Given the description of an element on the screen output the (x, y) to click on. 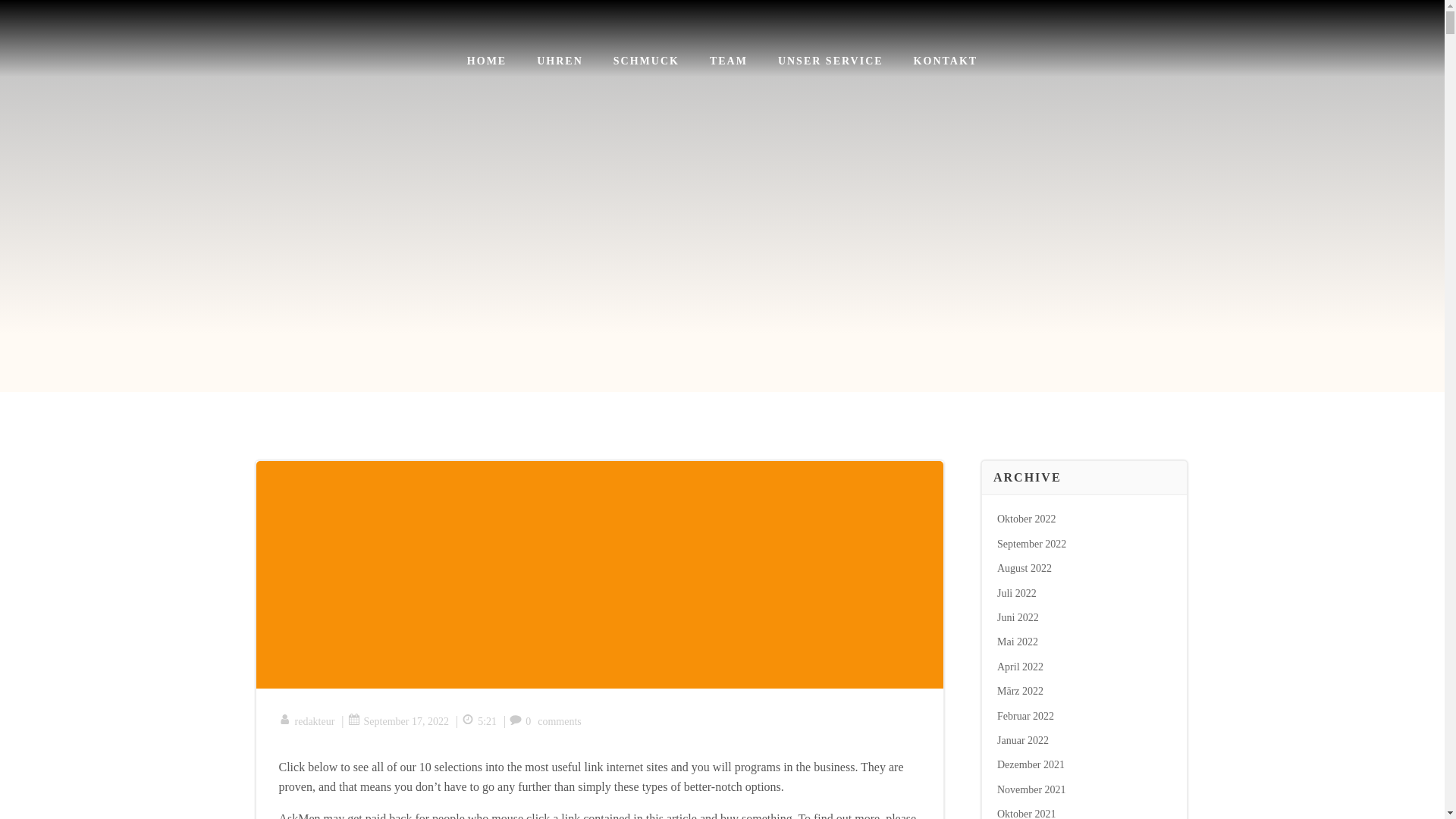
November 2021 (1031, 789)
Januar 2022 (1022, 740)
Oktober 2022 (1026, 518)
HOME (486, 60)
SCHMUCK (645, 60)
September 2022 (1031, 543)
0 (520, 721)
TEAM (729, 60)
KONTAKT (946, 60)
UHREN (560, 60)
